Given the description of an element on the screen output the (x, y) to click on. 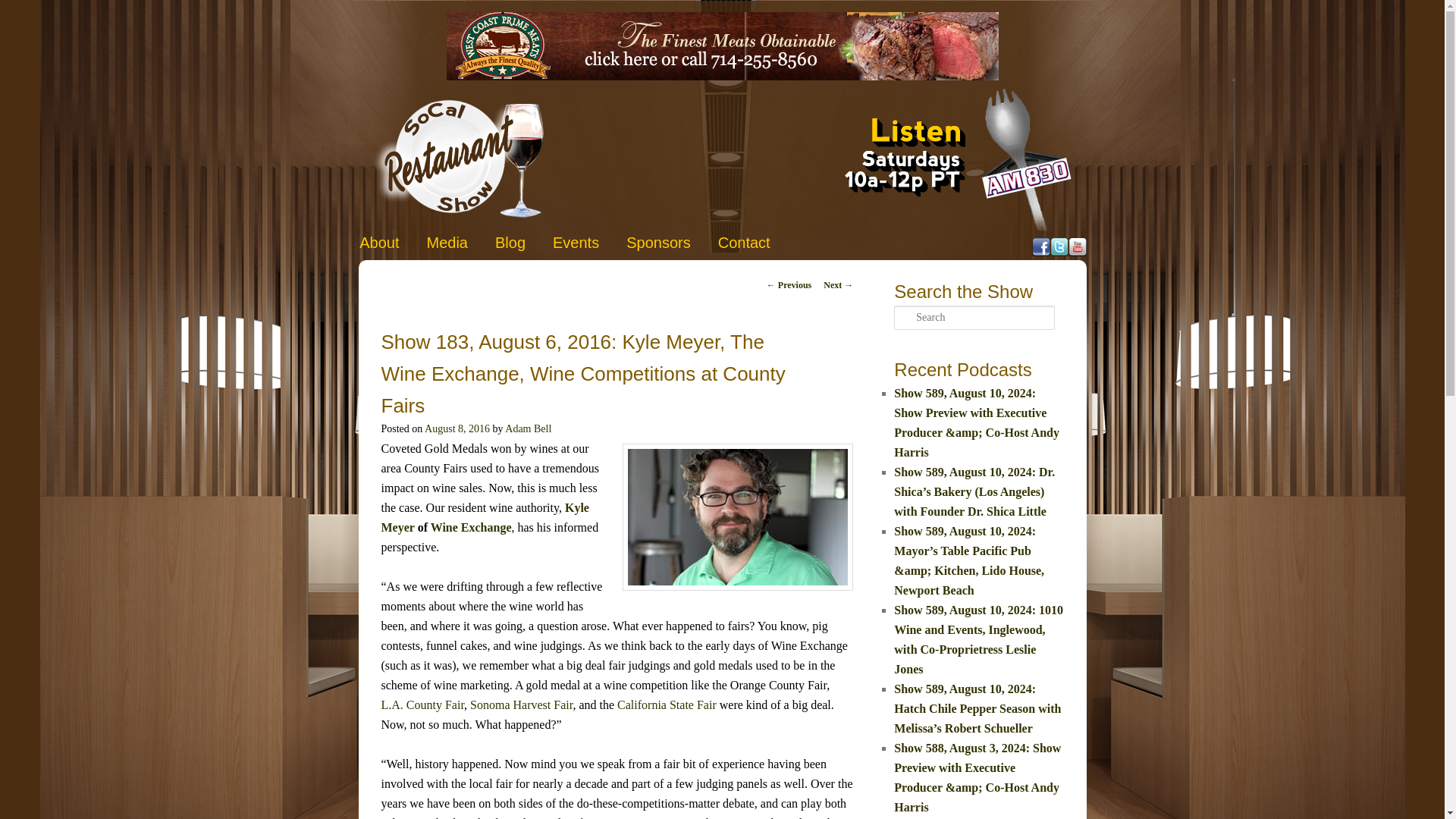
West Coast Prime Meats (721, 75)
About (379, 242)
Skip to secondary content (431, 240)
Media Gallery (447, 242)
Media (447, 242)
Wine Exchange (471, 526)
About the SoCal Restaurant Show (379, 242)
Blog (509, 242)
Event Calendar (575, 242)
